Given the description of an element on the screen output the (x, y) to click on. 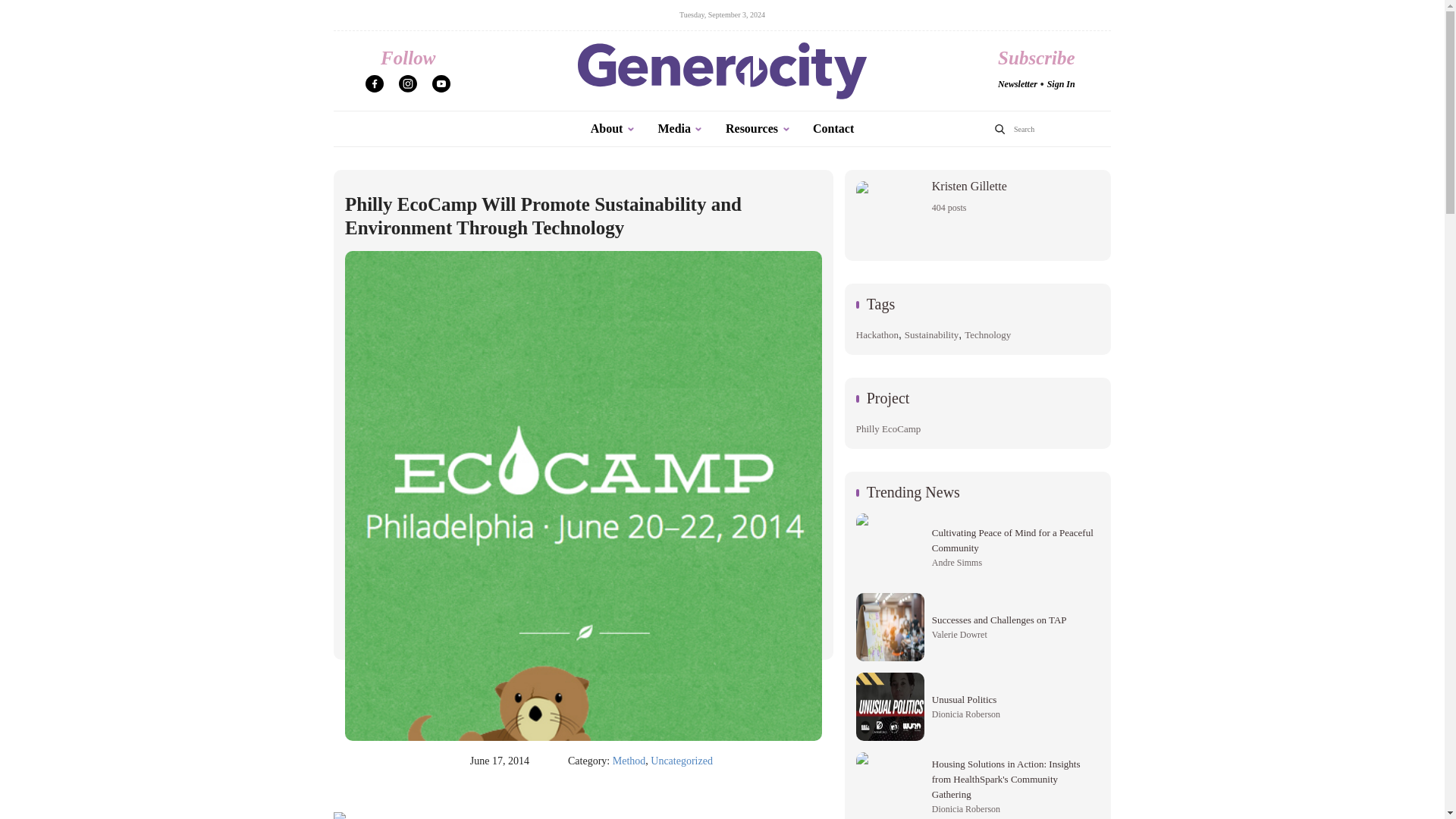
Resources (977, 215)
Method (757, 128)
Contact (629, 761)
About (832, 128)
Uncategorized (612, 128)
Newsletter (681, 761)
Sign In (1016, 83)
Media (1060, 83)
